Given the description of an element on the screen output the (x, y) to click on. 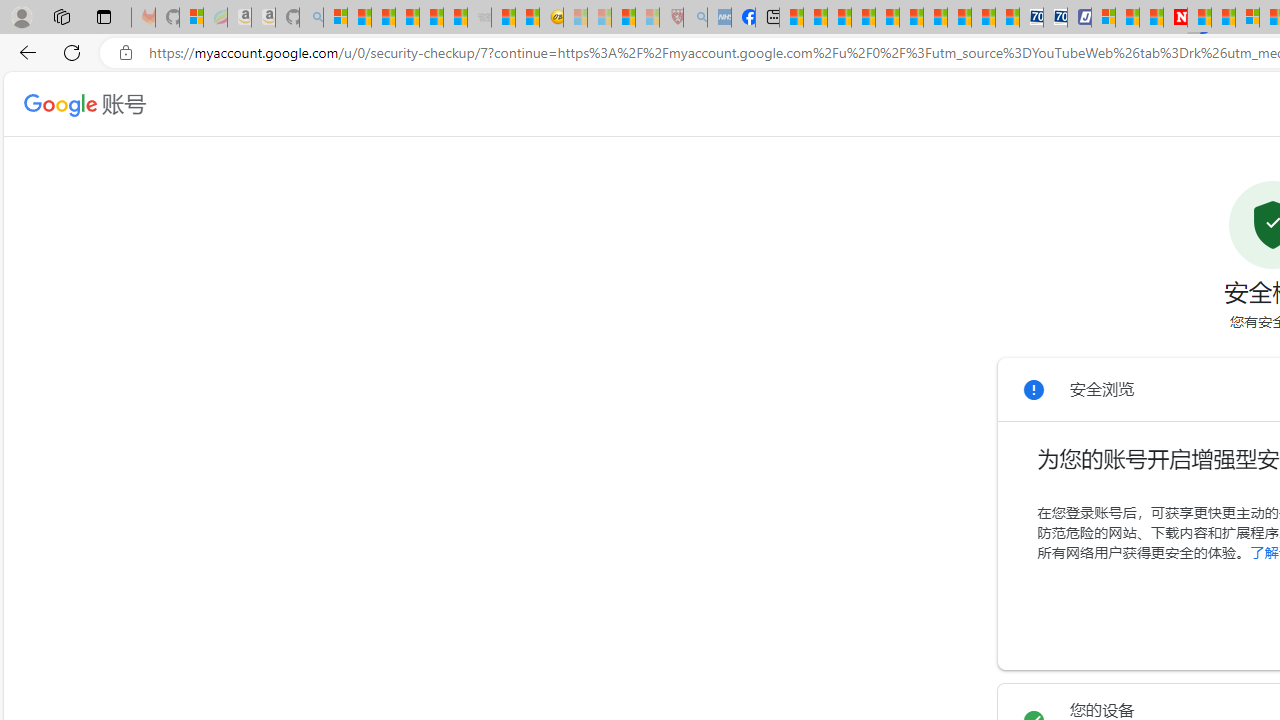
Combat Siege - Sleeping (479, 17)
